Given the description of an element on the screen output the (x, y) to click on. 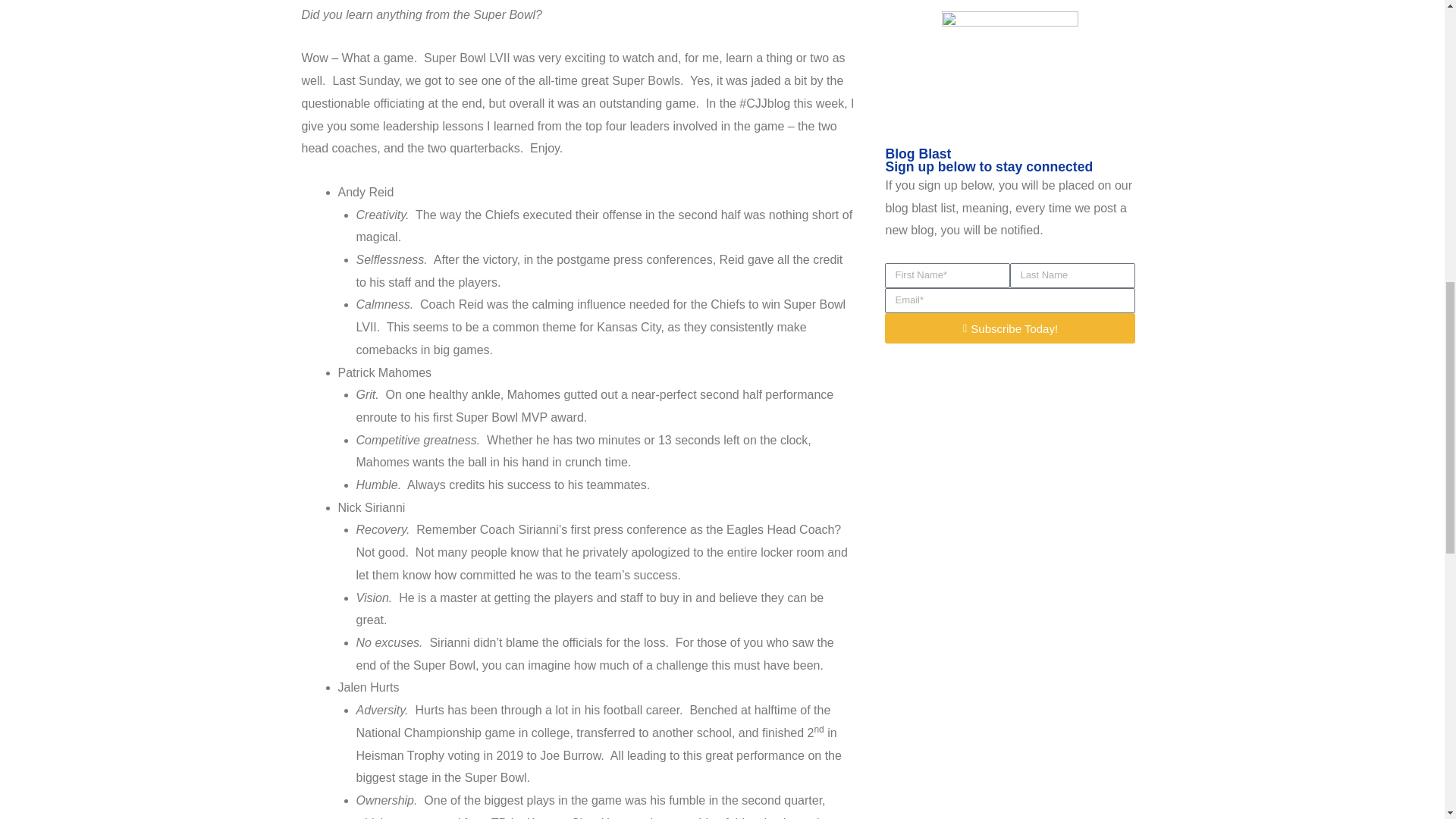
Subscribe Today! (1010, 327)
